Given the description of an element on the screen output the (x, y) to click on. 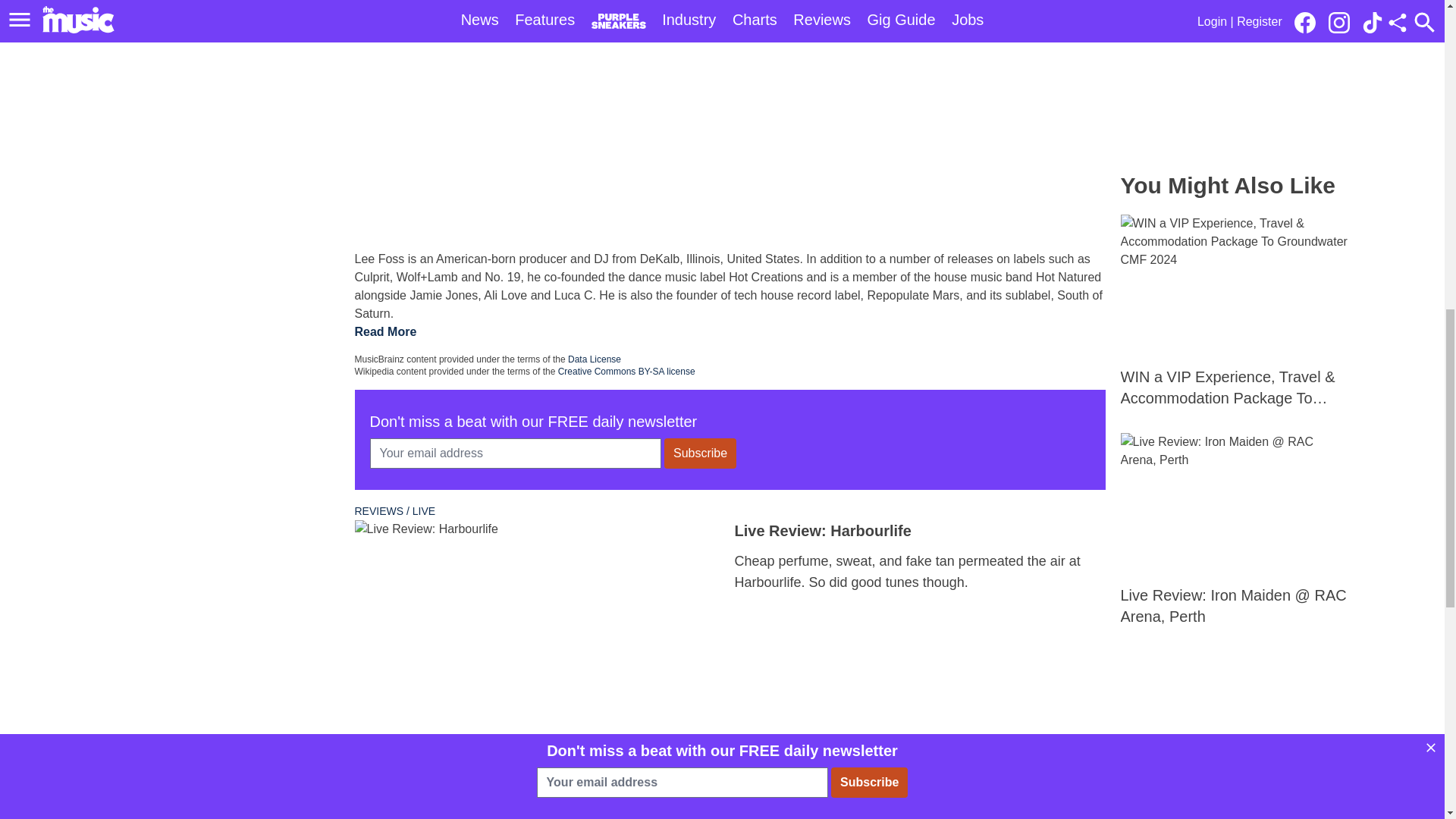
Subscribe (699, 453)
Read More (385, 331)
Creative Commons BY-SA license (626, 371)
Data License (594, 358)
